Given the description of an element on the screen output the (x, y) to click on. 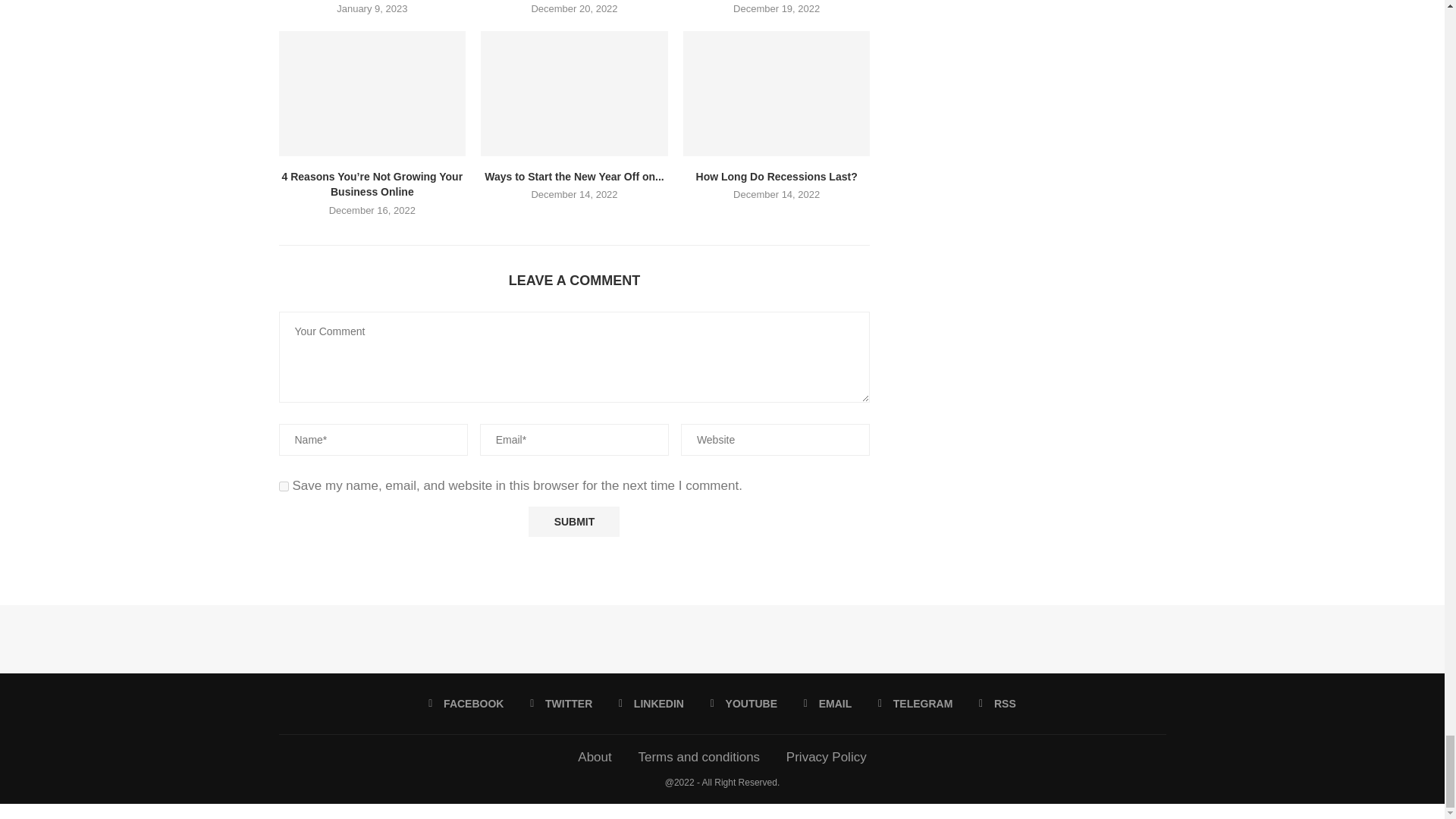
yes (283, 486)
Submit (574, 521)
